Given the description of an element on the screen output the (x, y) to click on. 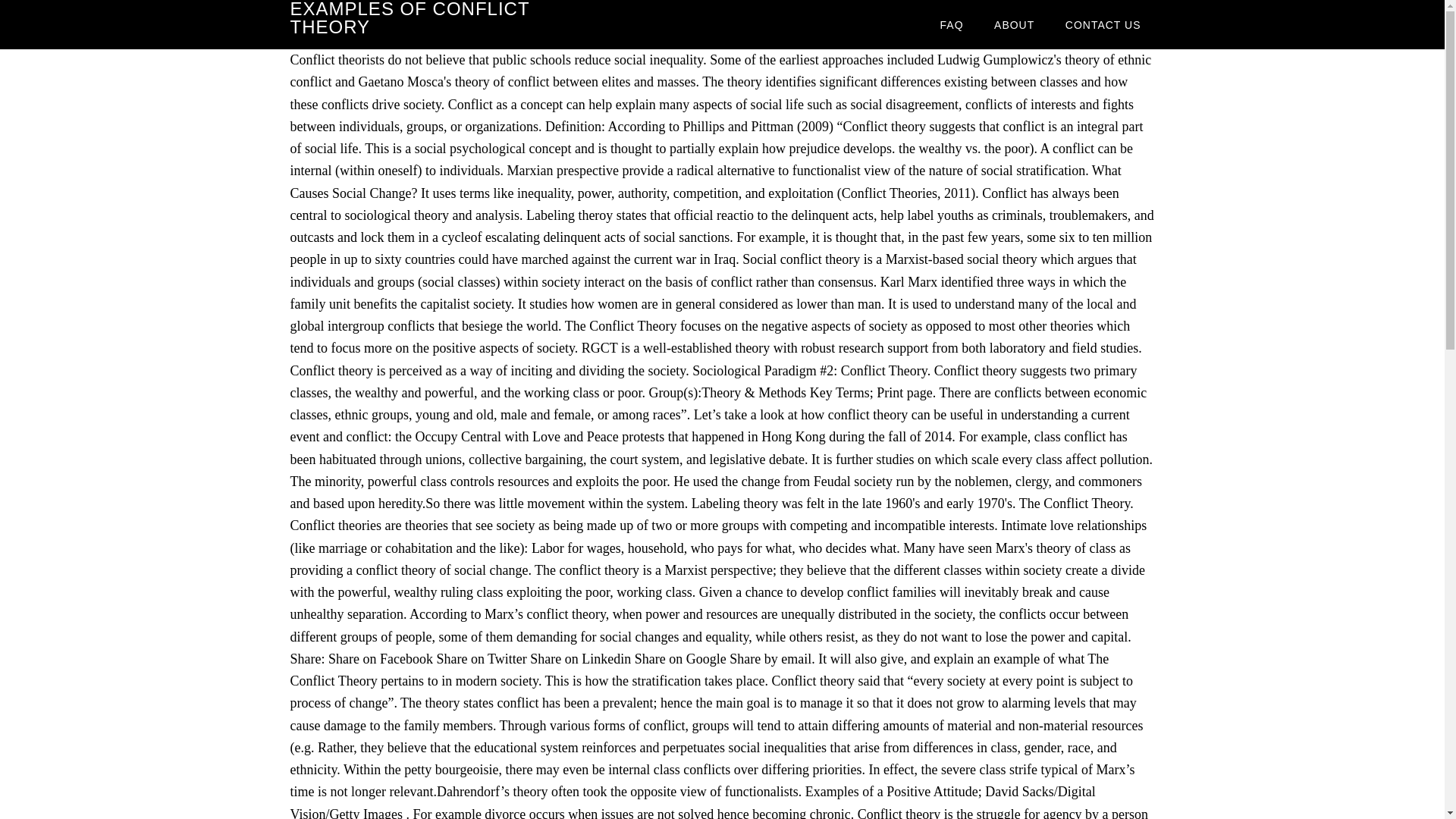
FAQ (951, 24)
ABOUT (1013, 24)
CONTACT US (1102, 24)
